Given the description of an element on the screen output the (x, y) to click on. 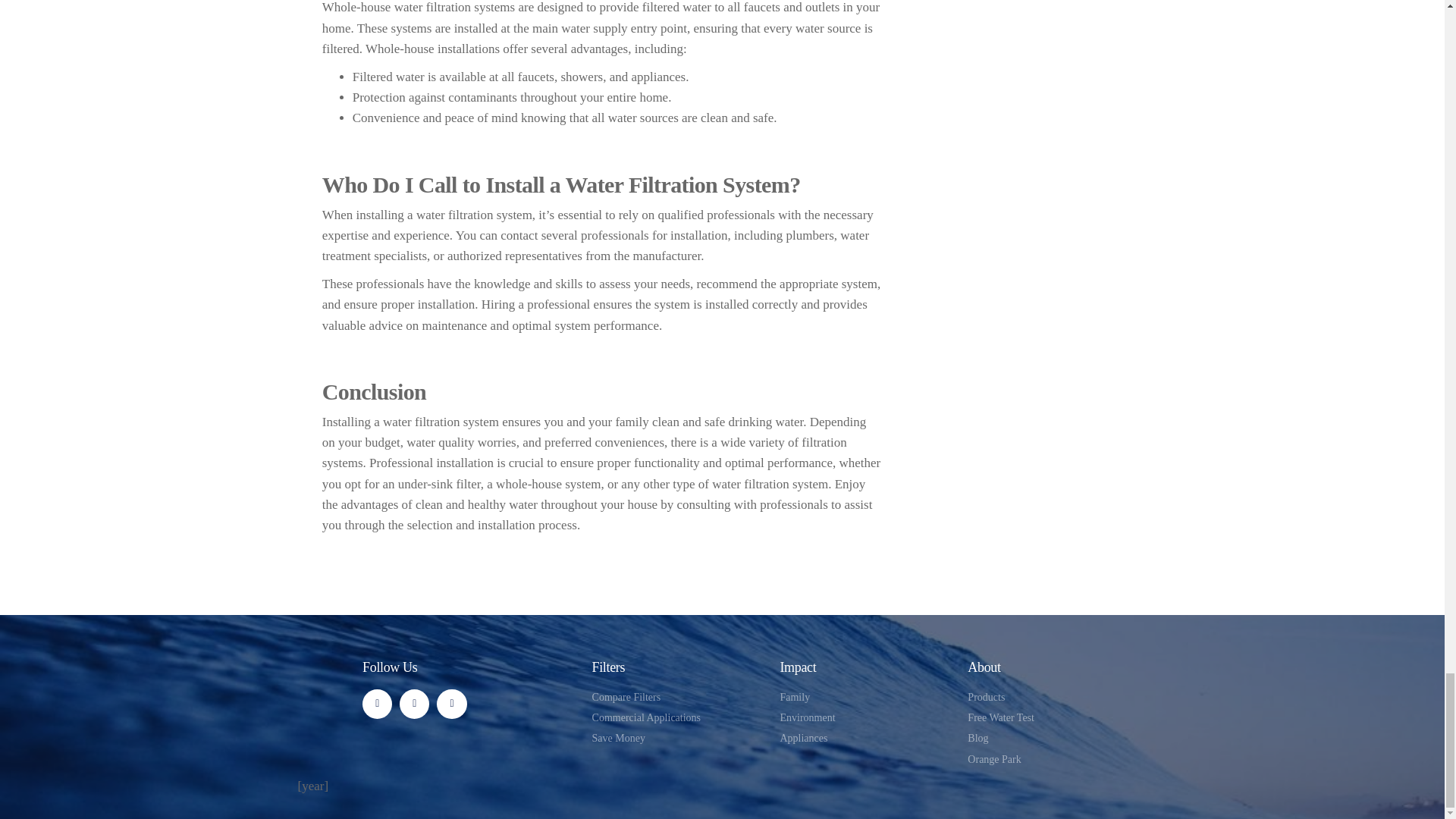
Commercial Applications (678, 718)
Family (865, 697)
Appliances (865, 738)
Orange Park (1053, 759)
Environment (865, 718)
Blog (1053, 738)
Products (1053, 697)
Compare Filters (678, 697)
Free Water Test (1053, 718)
Save Money (678, 738)
